Given the description of an element on the screen output the (x, y) to click on. 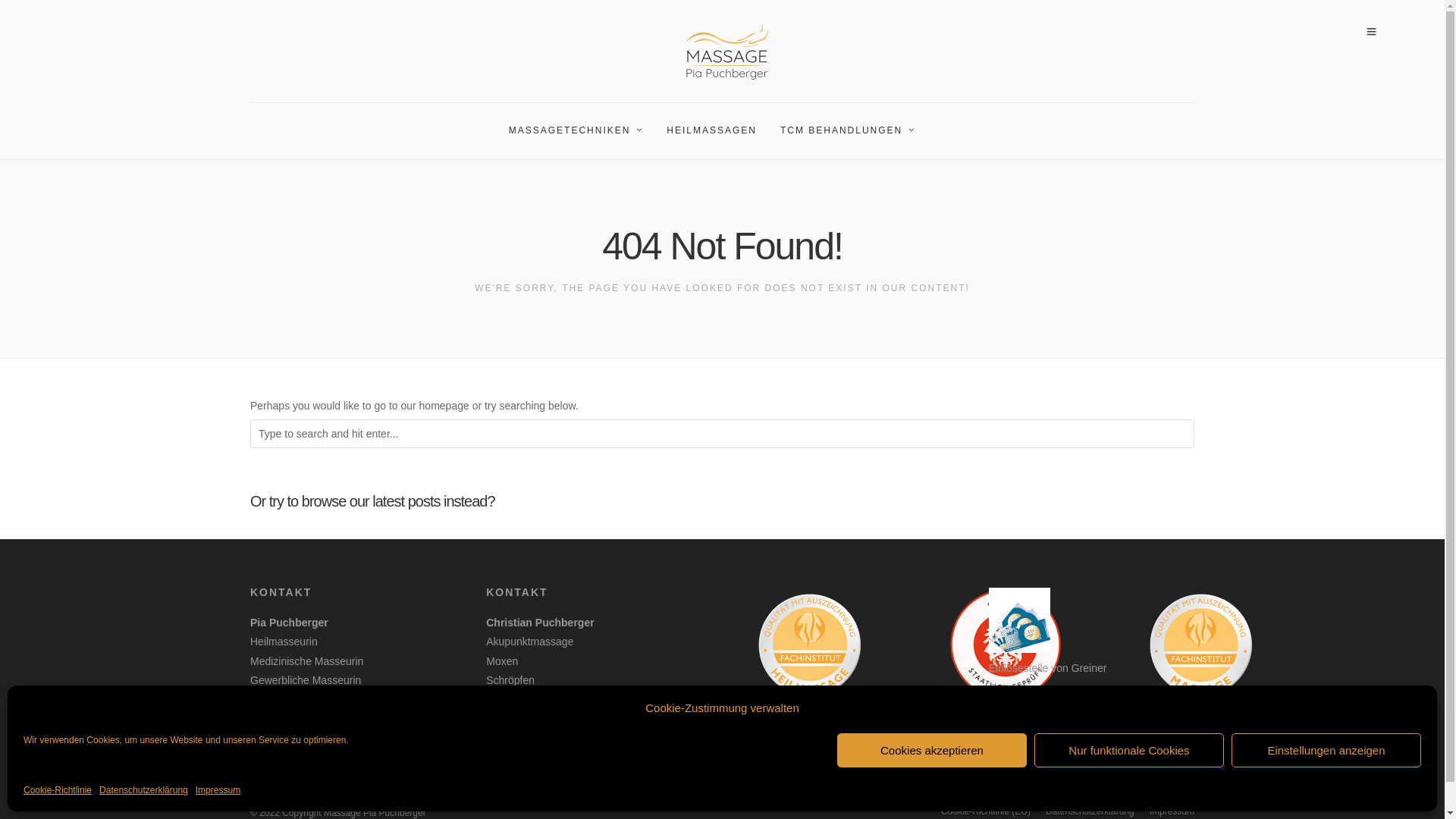
Impressum Element type: text (217, 790)
Cookie-Richtlinie (EU) Element type: text (985, 811)
TCM BEHANDLUNGEN Element type: text (854, 131)
christian@puchberger.cc Element type: text (580, 728)
Cookie-Richtlinie Element type: text (57, 790)
massage@puchberger.cc Element type: text (345, 728)
Einstellungen anzeigen Element type: text (1326, 750)
MASSAGETECHNIKEN Element type: text (582, 131)
HEILMASSAGEN Element type: text (717, 131)
Impressum Element type: text (1171, 811)
Nur funktionale Cookies Element type: text (1128, 750)
Cookies akzeptieren Element type: text (931, 750)
